Given the description of an element on the screen output the (x, y) to click on. 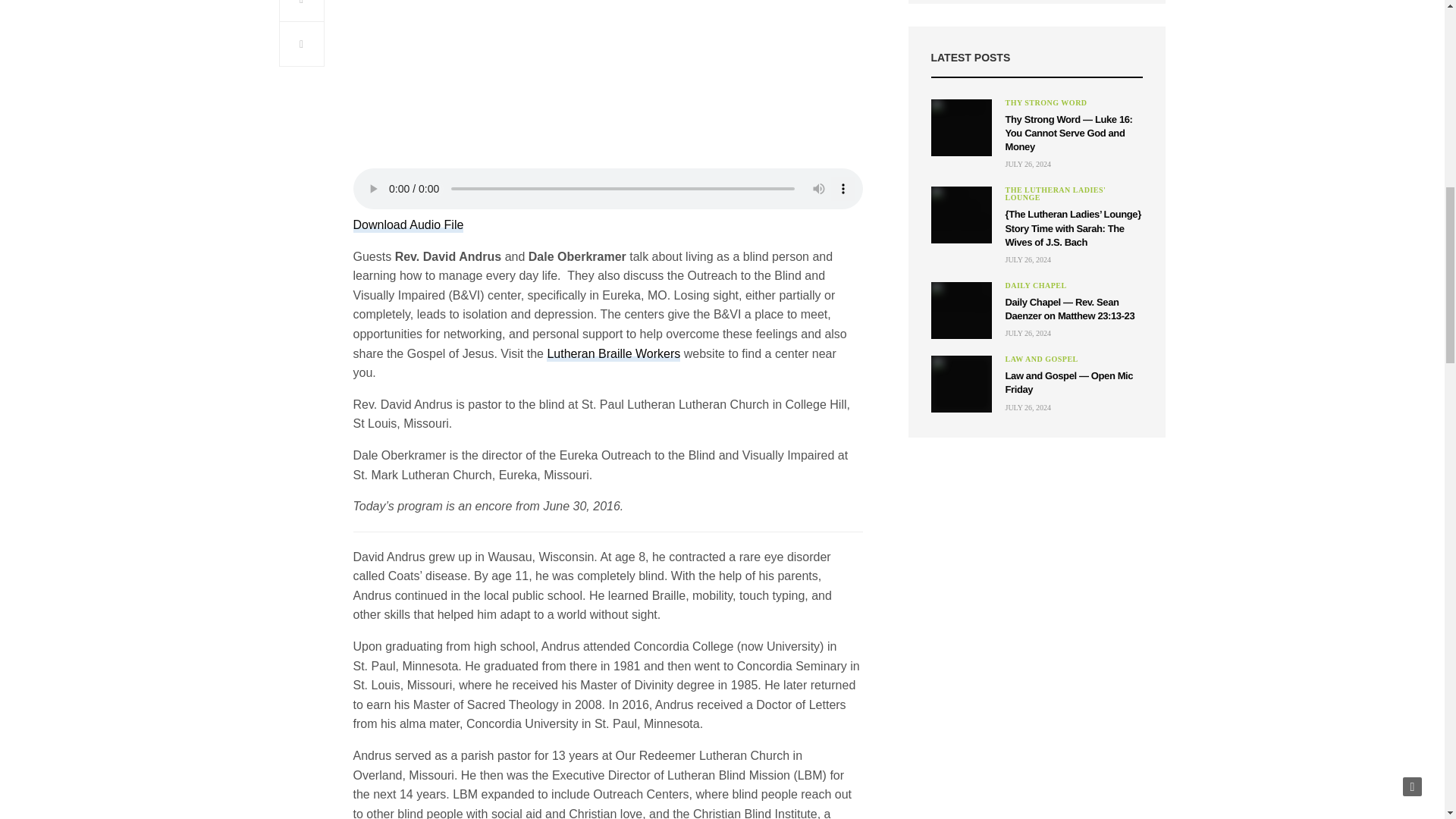
Thy Strong Word (1046, 103)
